Given the description of an element on the screen output the (x, y) to click on. 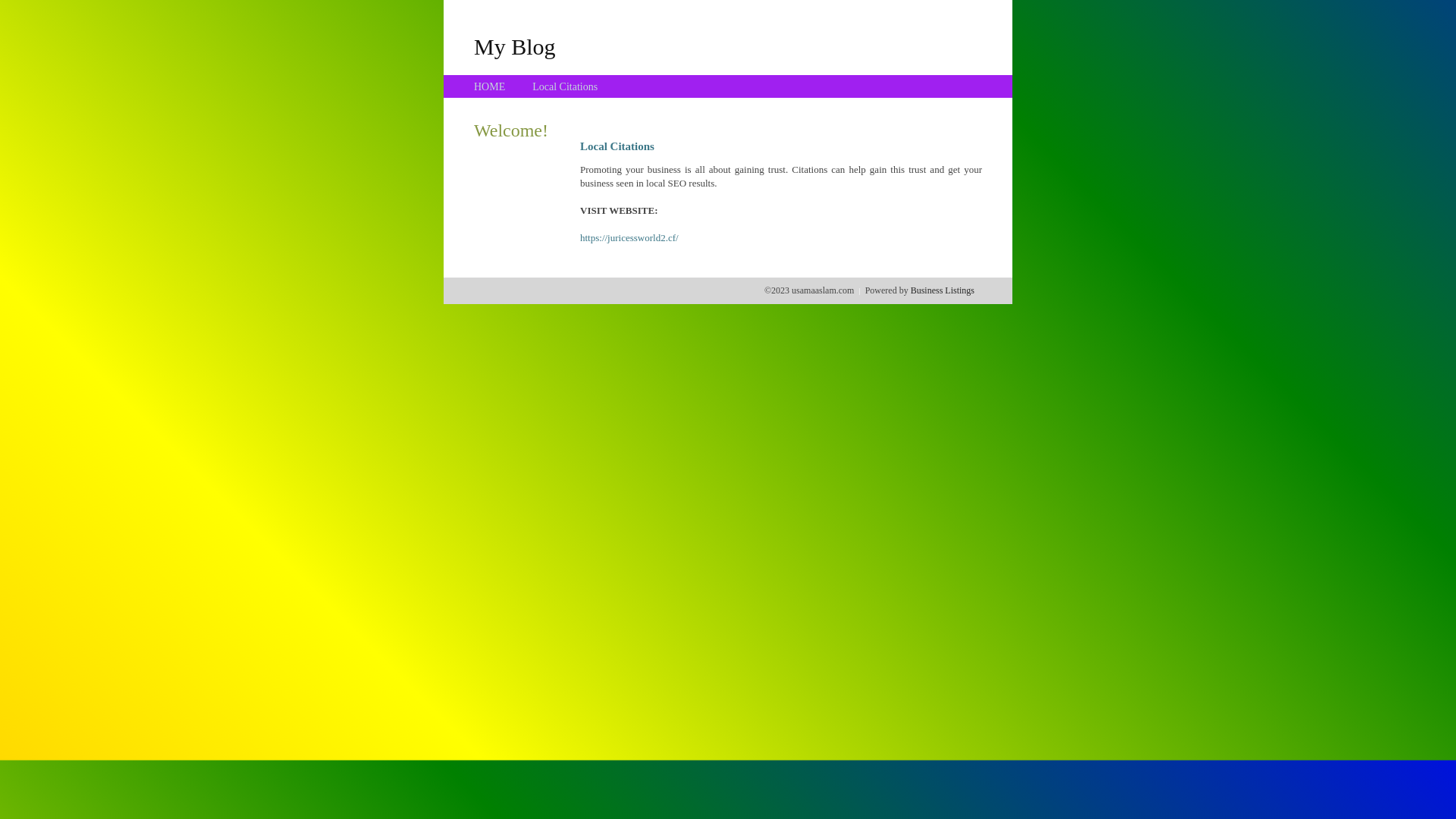
https://juricessworld2.cf/ Element type: text (629, 237)
HOME Element type: text (489, 86)
Business Listings Element type: text (942, 290)
Local Citations Element type: text (564, 86)
My Blog Element type: text (514, 46)
